Given the description of an element on the screen output the (x, y) to click on. 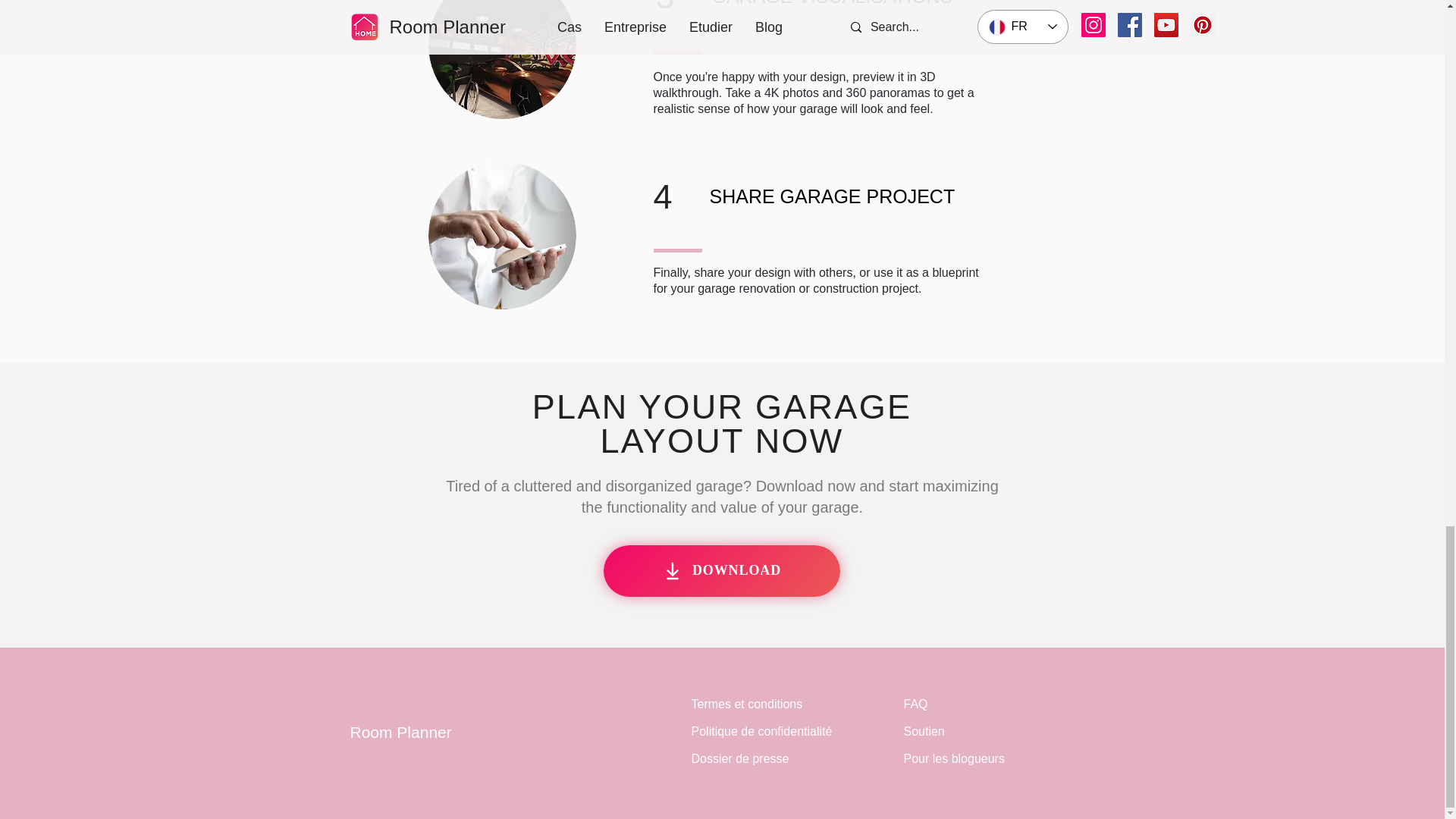
Dossier de presse (740, 758)
Pour les blogueurs (954, 758)
Termes et conditions (747, 703)
Room Planner (400, 732)
Soutien (924, 730)
FAQ (916, 703)
DOWNLOAD (722, 571)
